Given the description of an element on the screen output the (x, y) to click on. 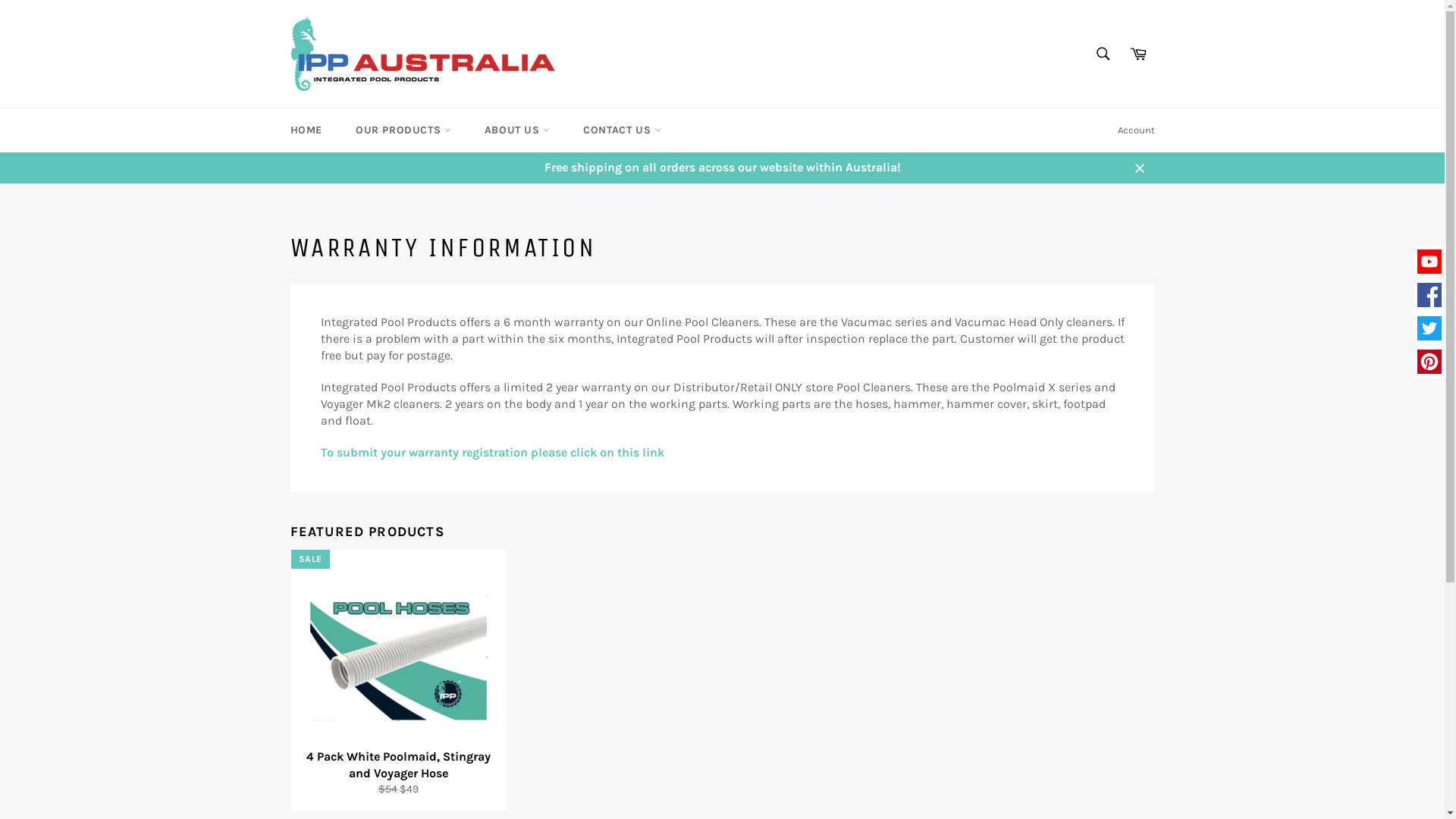
Account Element type: text (1136, 130)
ABOUT US Element type: text (516, 129)
OUR PRODUCTS Element type: text (403, 129)
CONTACT US Element type: text (621, 129)
Search Element type: text (1103, 53)
Cart Element type: text (1138, 53)
Close Element type: text (1138, 167)
HOME Element type: text (305, 129)
